Given the description of an element on the screen output the (x, y) to click on. 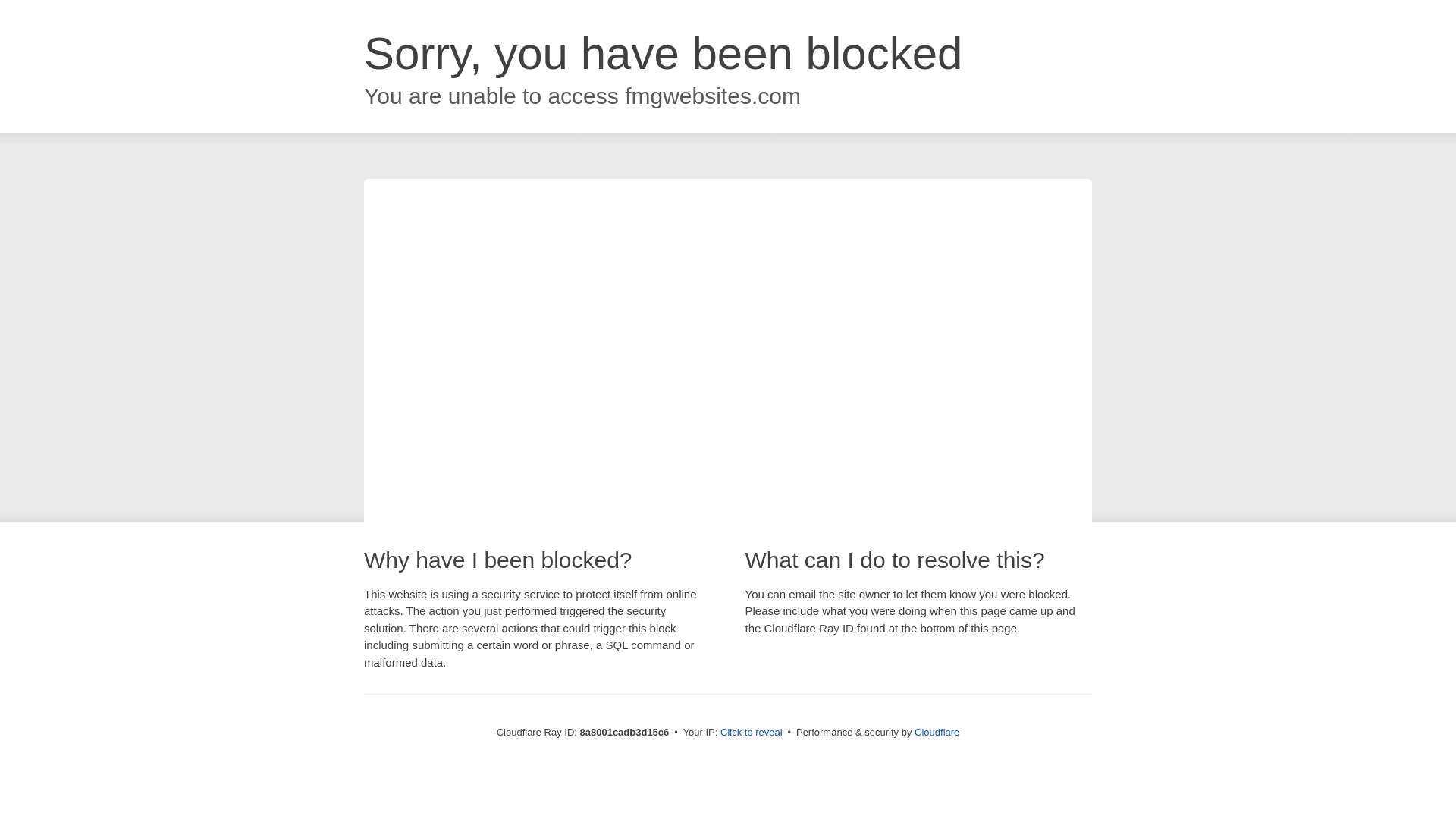
Click to reveal (751, 732)
Cloudflare (936, 731)
